Given the description of an element on the screen output the (x, y) to click on. 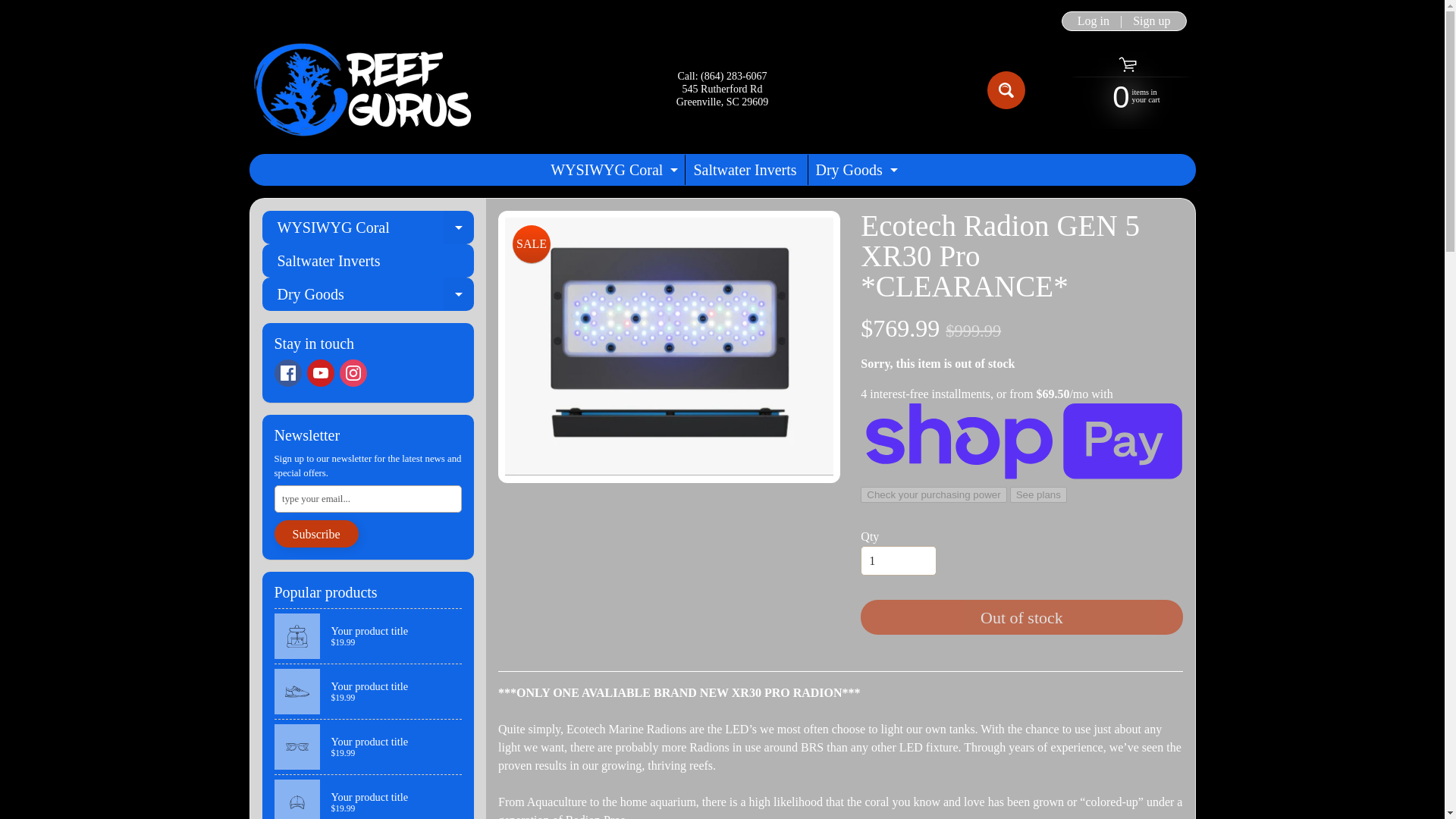
Youtube (319, 372)
Instagram (854, 169)
Sign up (612, 169)
Saltwater Inverts (352, 372)
Search (1151, 21)
Reef Gurus (744, 169)
Skip to content (1006, 89)
